Given the description of an element on the screen output the (x, y) to click on. 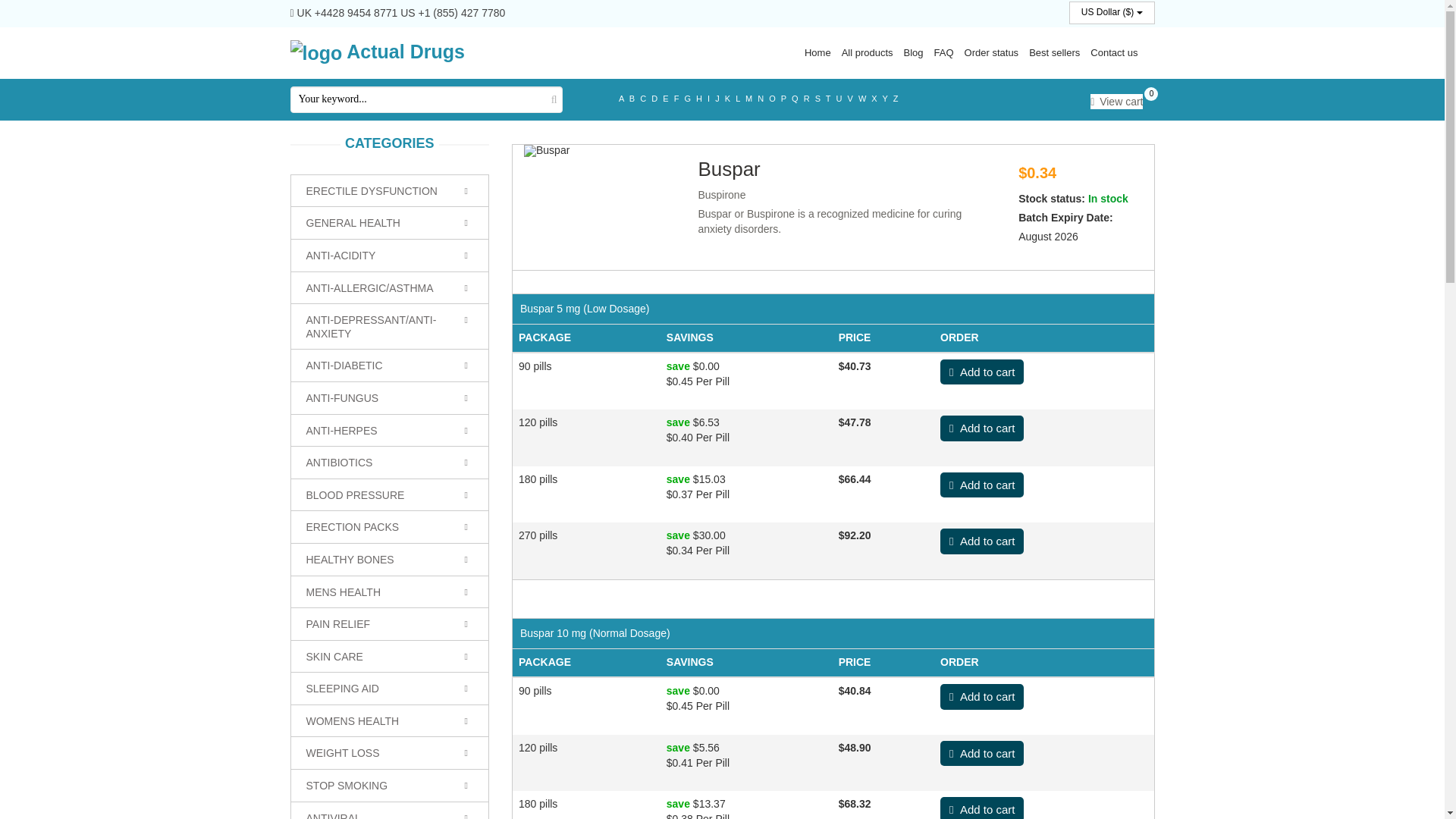
All products (867, 52)
W (863, 98)
Home (818, 52)
Order status (991, 52)
Contact us (1113, 52)
M (749, 98)
Actual Drugs (376, 51)
Best sellers (1054, 52)
O (772, 98)
Q (795, 98)
